Given the description of an element on the screen output the (x, y) to click on. 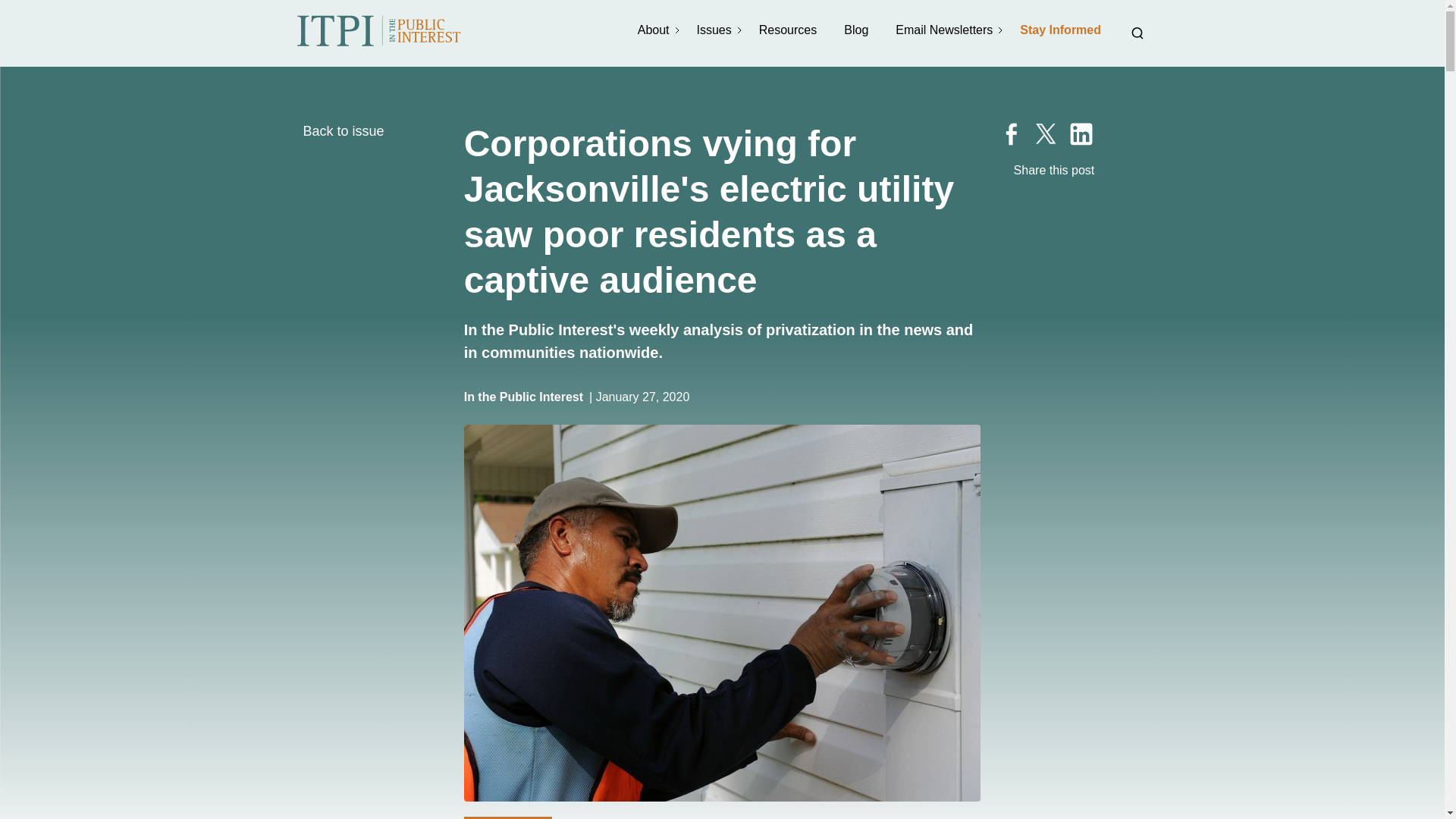
Stay Informed (1061, 29)
Email Newsletters (945, 29)
About (655, 29)
Blog (857, 29)
Resources (788, 29)
Issues (715, 29)
